Given the description of an element on the screen output the (x, y) to click on. 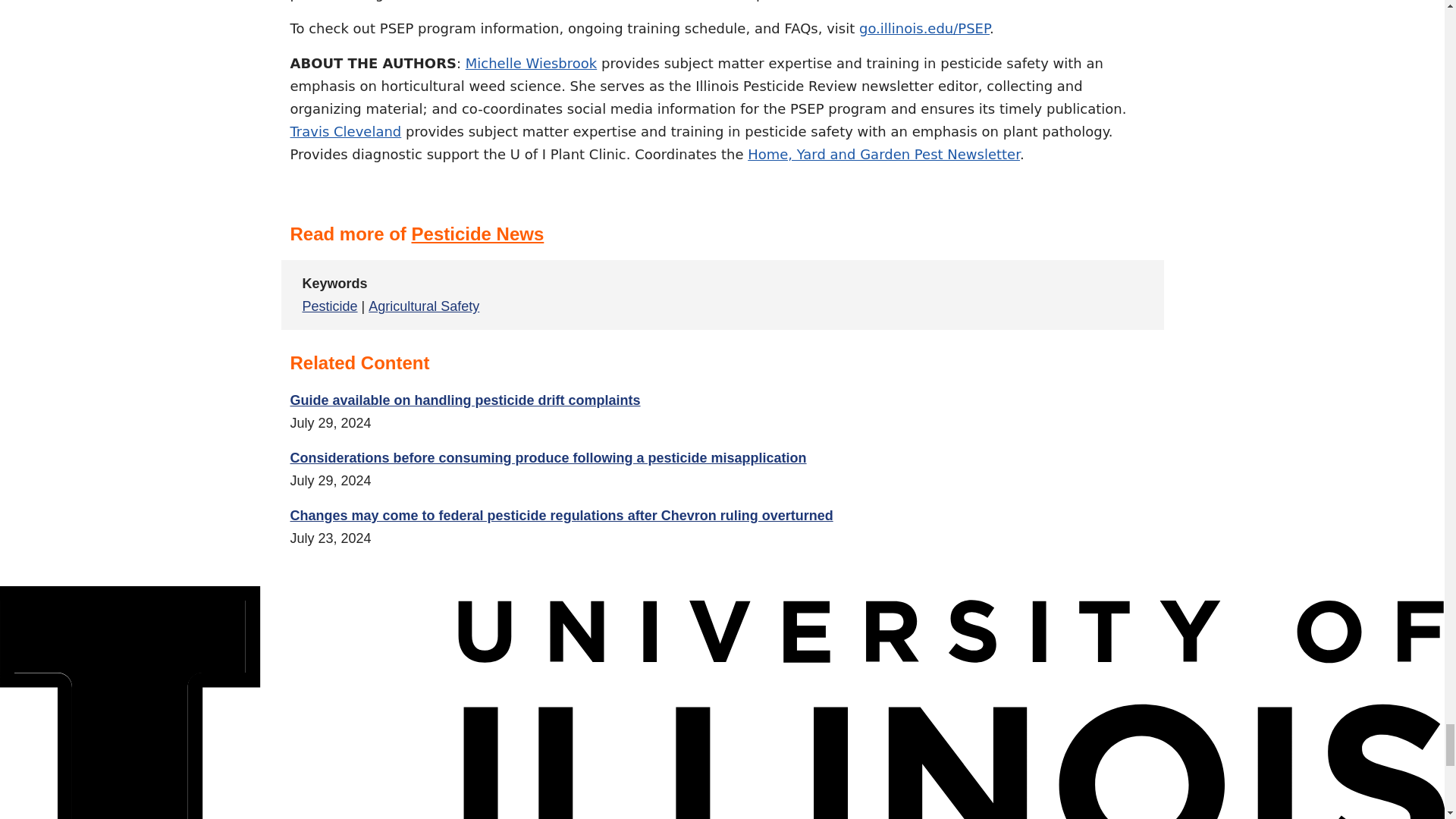
Share to Email (1099, 295)
Share to Linkedin (1063, 295)
Share to Facebook (990, 295)
Share to X (1026, 295)
